Given the description of an element on the screen output the (x, y) to click on. 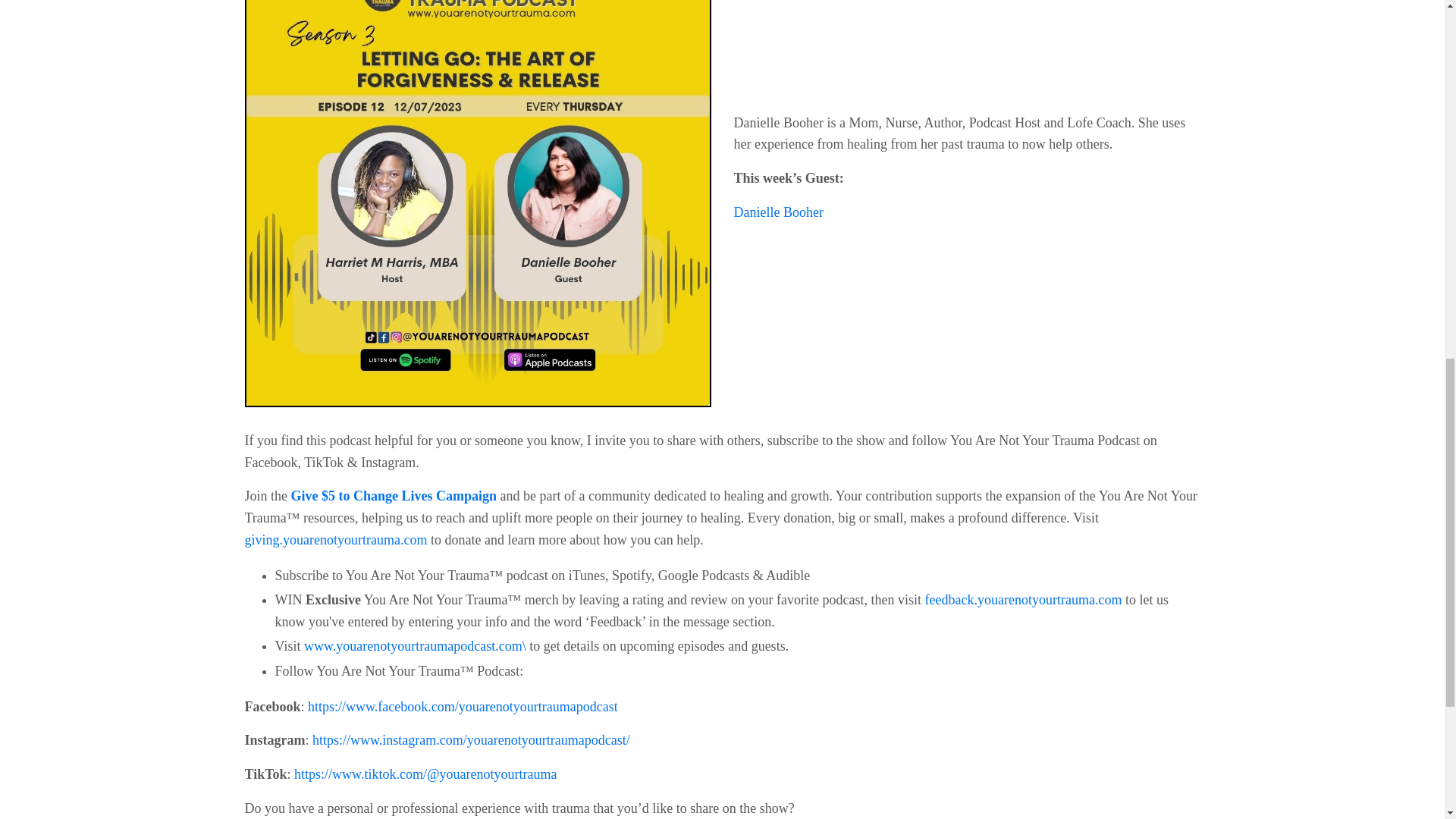
Danielle Booher (778, 212)
feedback.youarenotyourtrauma.com (1023, 599)
giving.youarenotyourtrauma.com (335, 539)
